Given the description of an element on the screen output the (x, y) to click on. 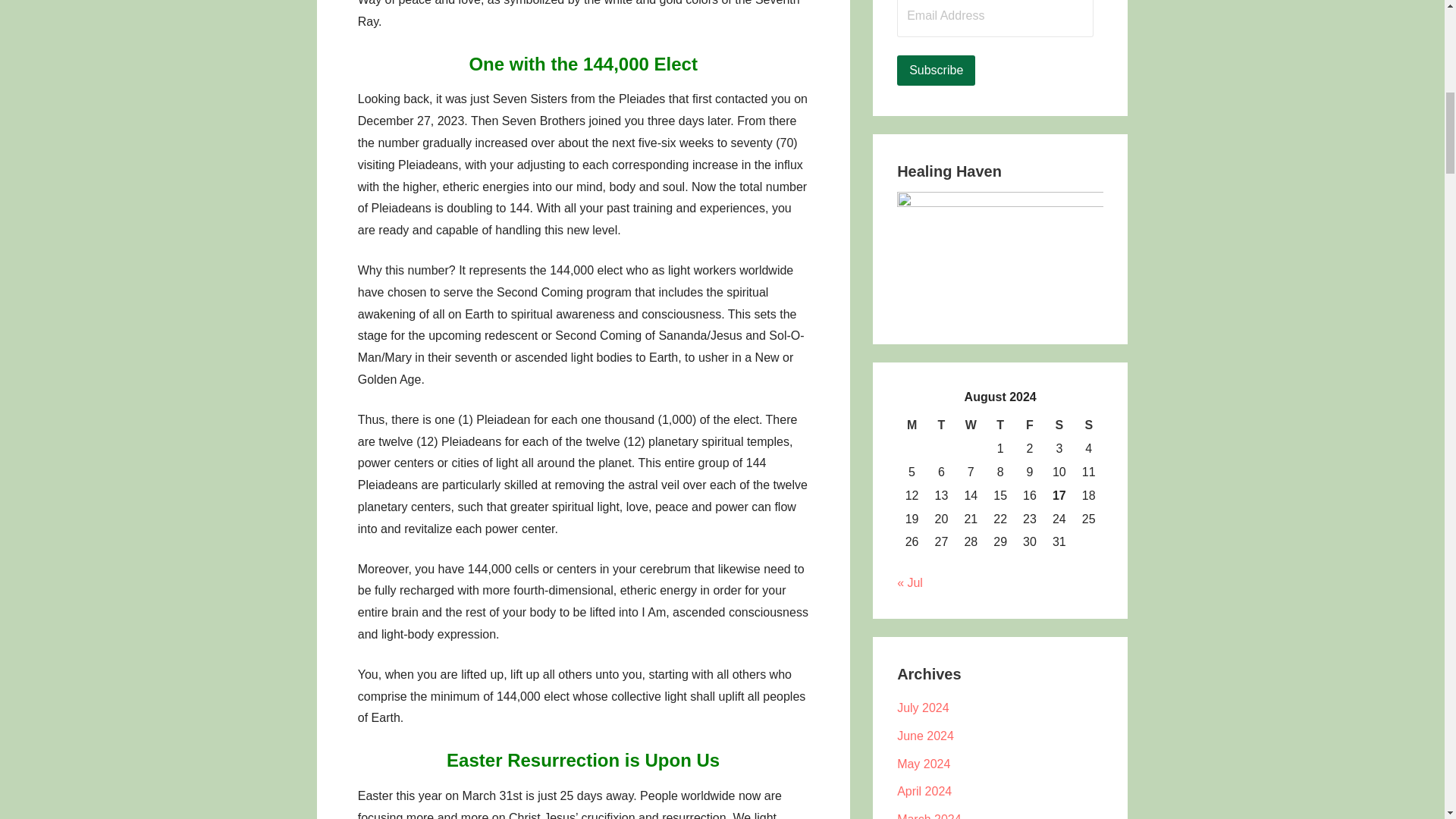
July 2024 (922, 707)
March 2024 (928, 816)
Sunday (1088, 425)
April 2024 (924, 790)
Tuesday (941, 425)
Thursday (999, 425)
Subscribe (935, 70)
June 2024 (924, 735)
Friday (1029, 425)
Saturday (1058, 425)
